Given the description of an element on the screen output the (x, y) to click on. 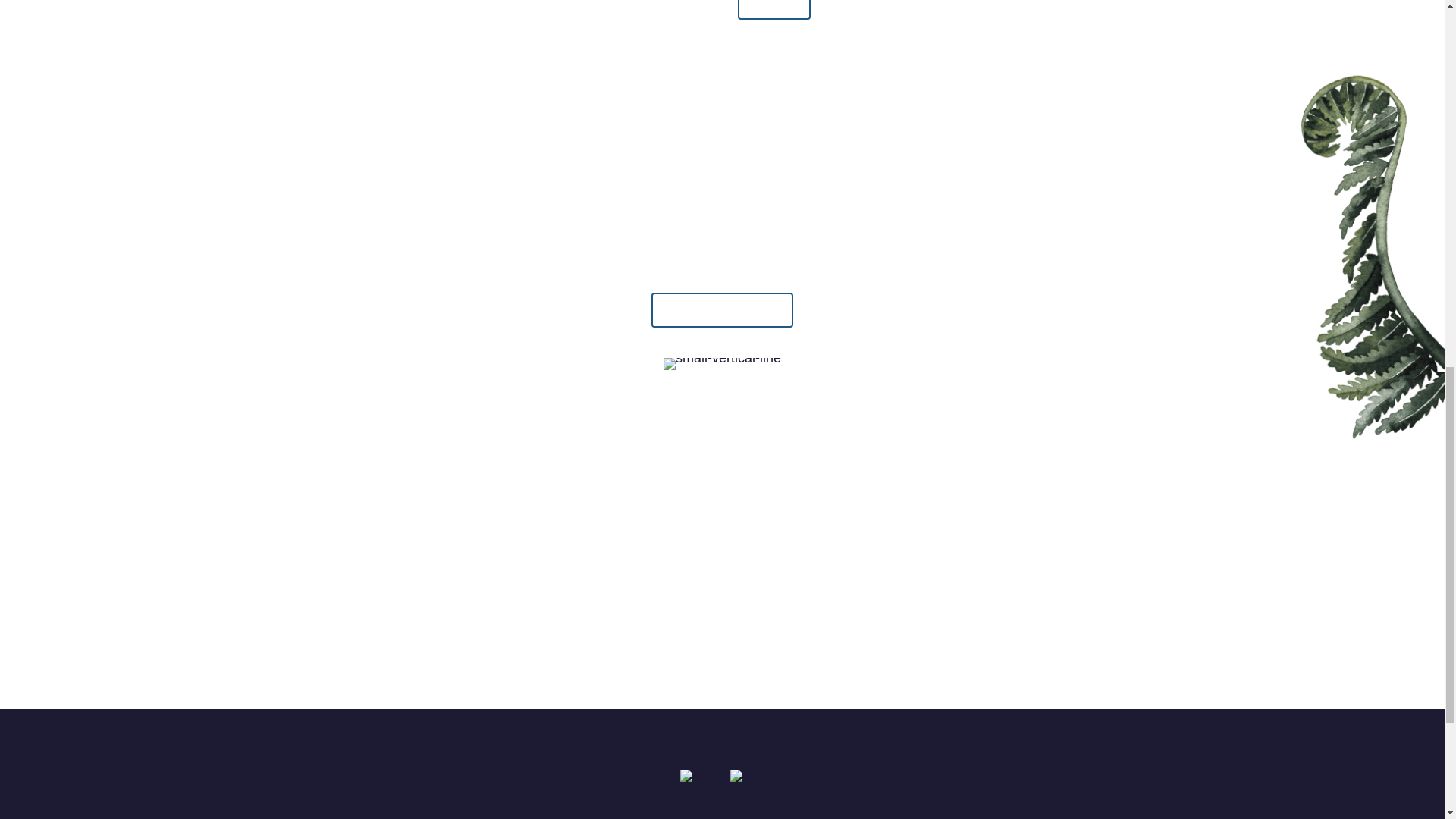
1 (689, 775)
small-vertical-line (721, 363)
Send (772, 9)
sp-logo (758, 775)
